Given the description of an element on the screen output the (x, y) to click on. 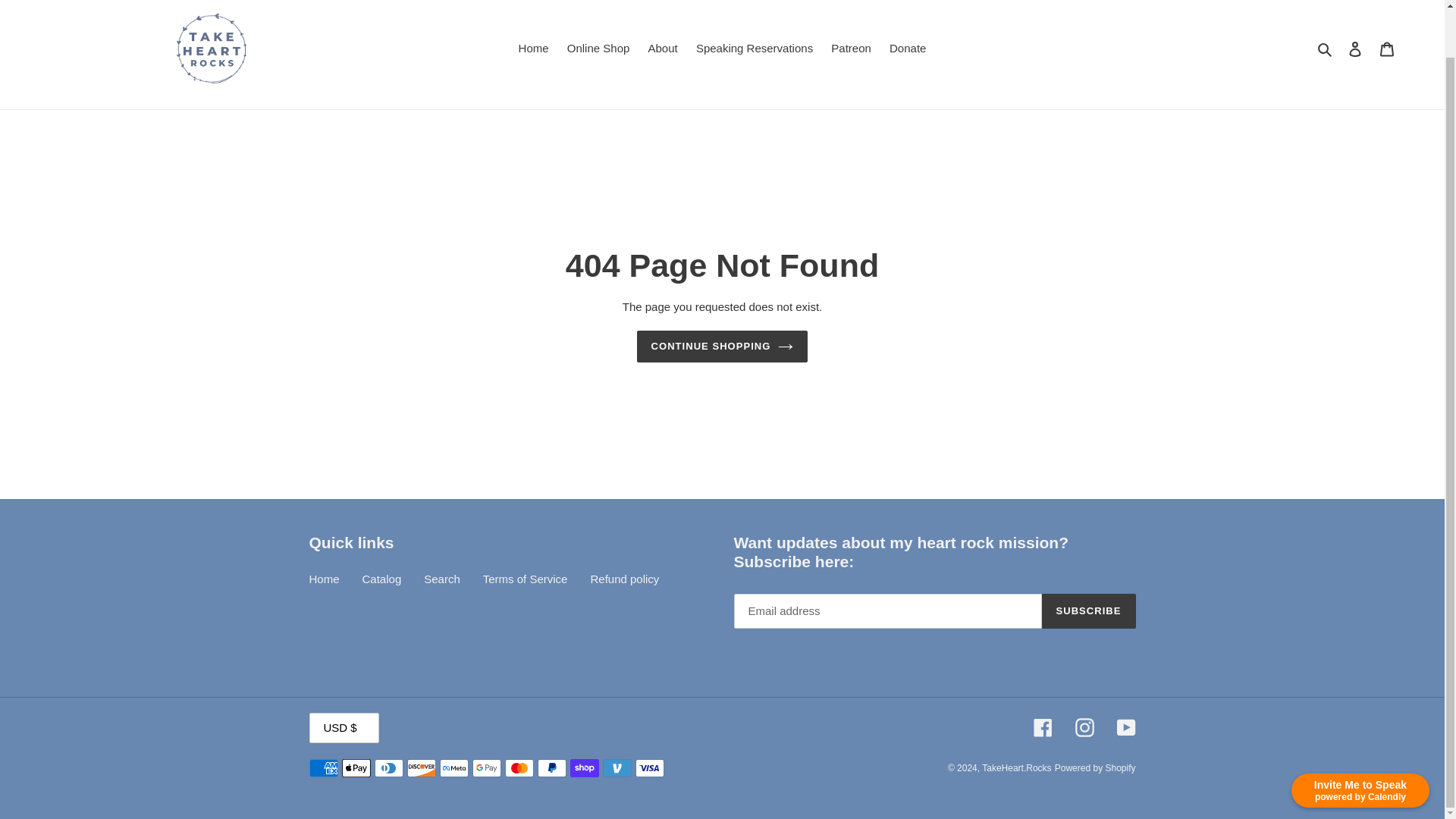
About (662, 48)
Home (323, 578)
Cart (1387, 48)
Search (1326, 48)
Search (441, 578)
Speaking Reservations (754, 48)
SUBSCRIBE (1088, 610)
Refund policy (624, 578)
Home (533, 48)
Terms of Service (525, 578)
Log in (1355, 48)
Patreon (851, 48)
Catalog (381, 578)
Donate (907, 48)
CONTINUE SHOPPING (722, 346)
